Given the description of an element on the screen output the (x, y) to click on. 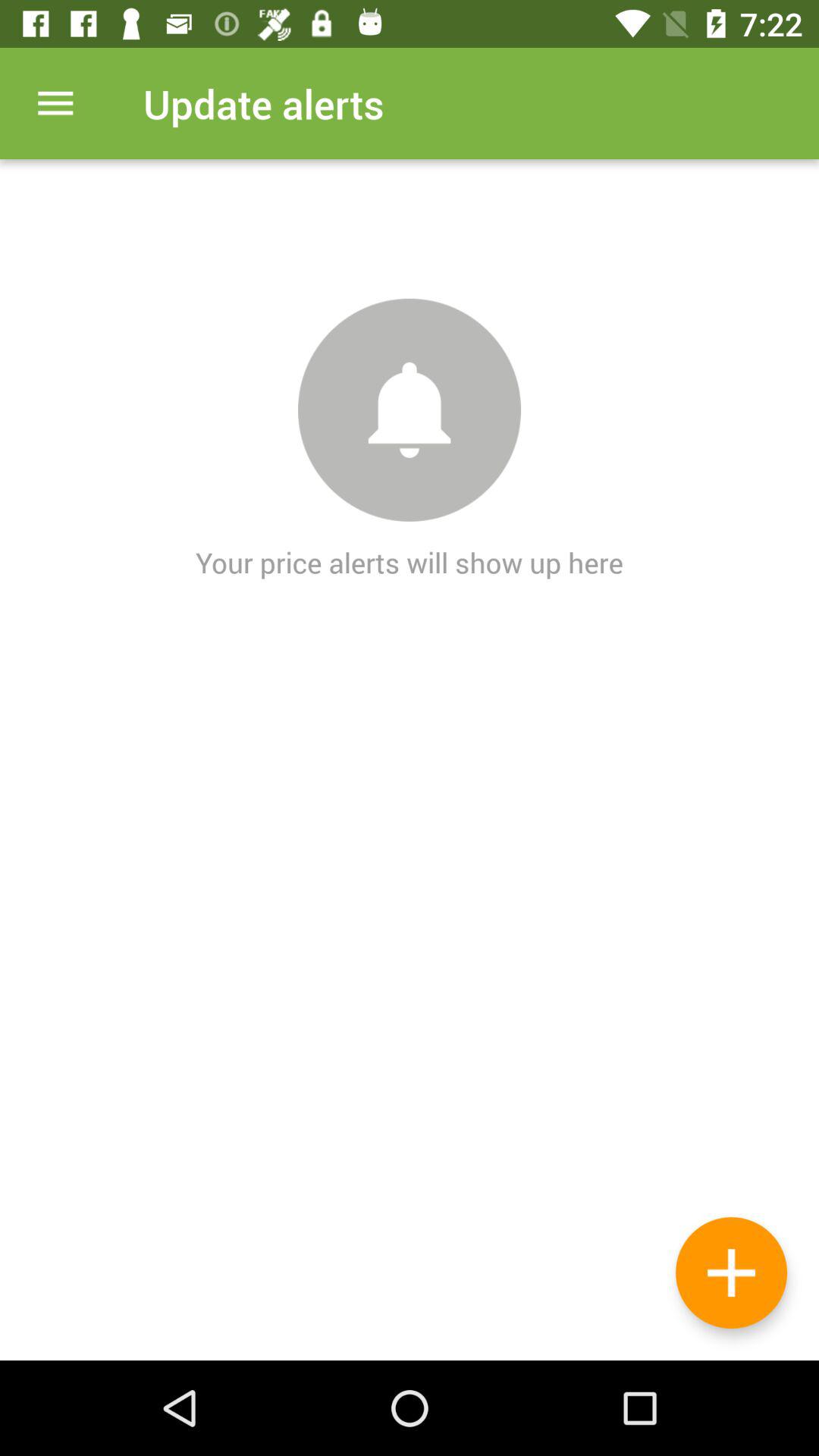
launch item at the top left corner (55, 103)
